Given the description of an element on the screen output the (x, y) to click on. 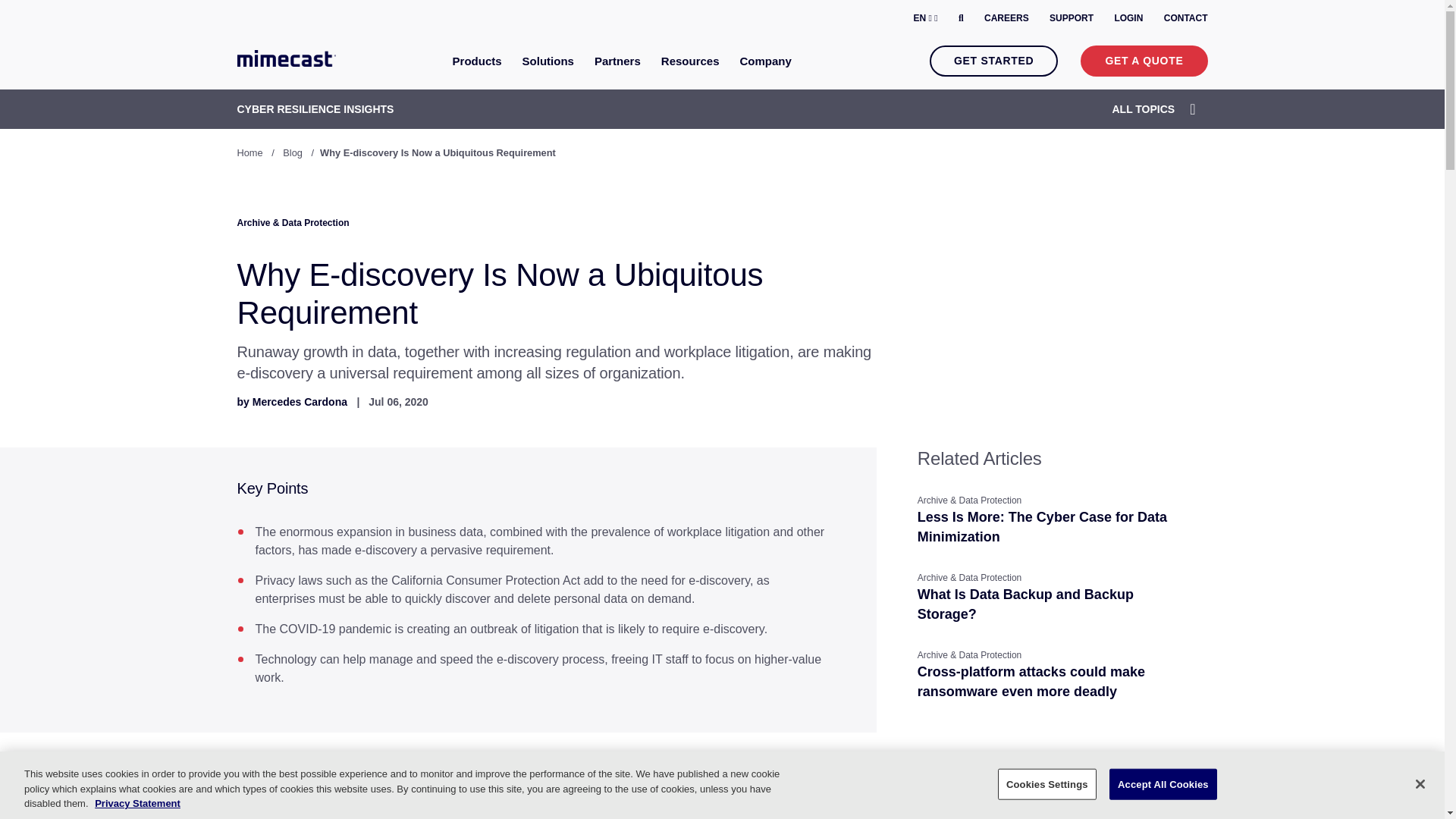
SUPPORT (1071, 18)
CONTACT (1185, 18)
CAREERS (1006, 18)
Search (960, 18)
LOGIN (1127, 18)
